Given the description of an element on the screen output the (x, y) to click on. 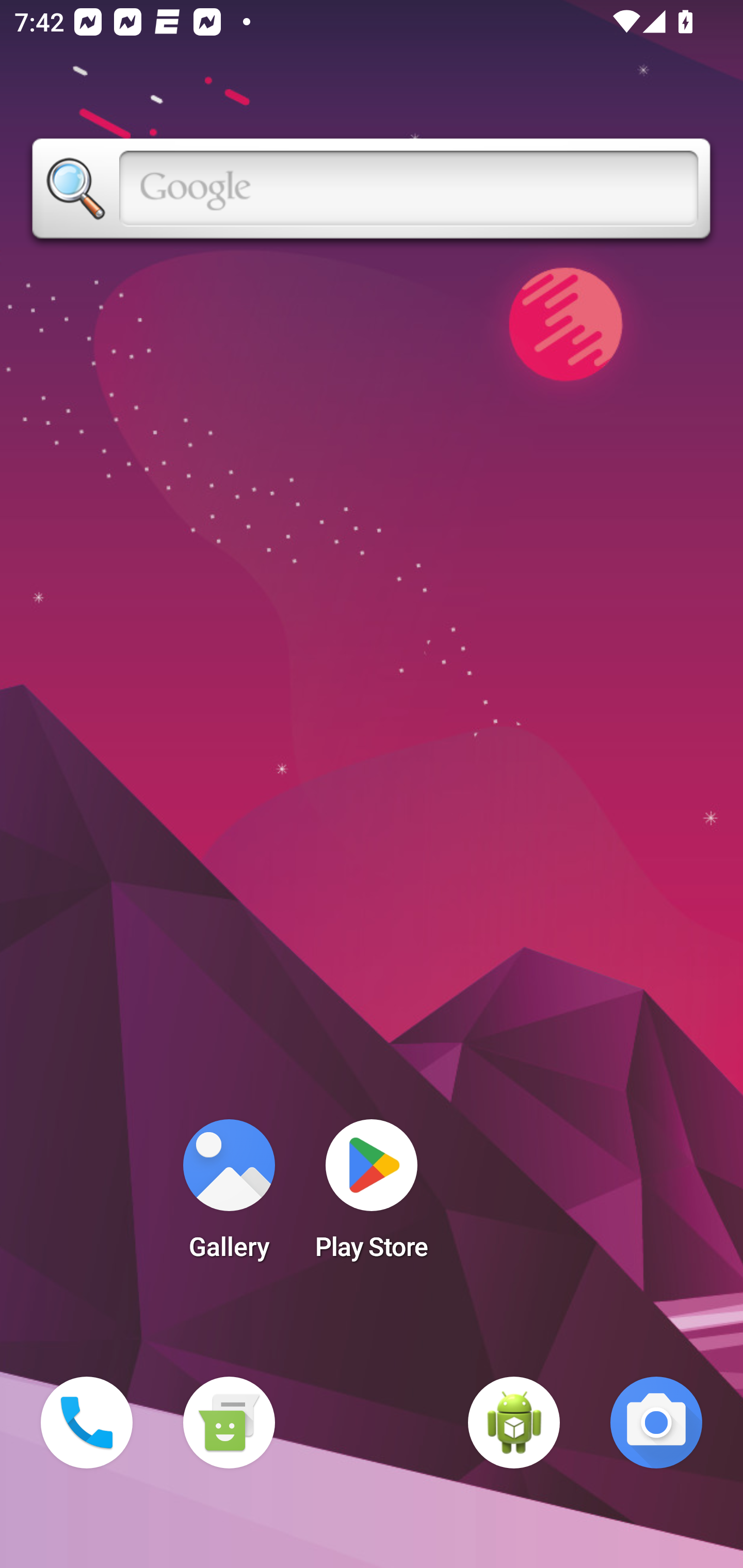
Gallery (228, 1195)
Play Store (371, 1195)
Phone (86, 1422)
Messaging (228, 1422)
WebView Browser Tester (513, 1422)
Camera (656, 1422)
